Given the description of an element on the screen output the (x, y) to click on. 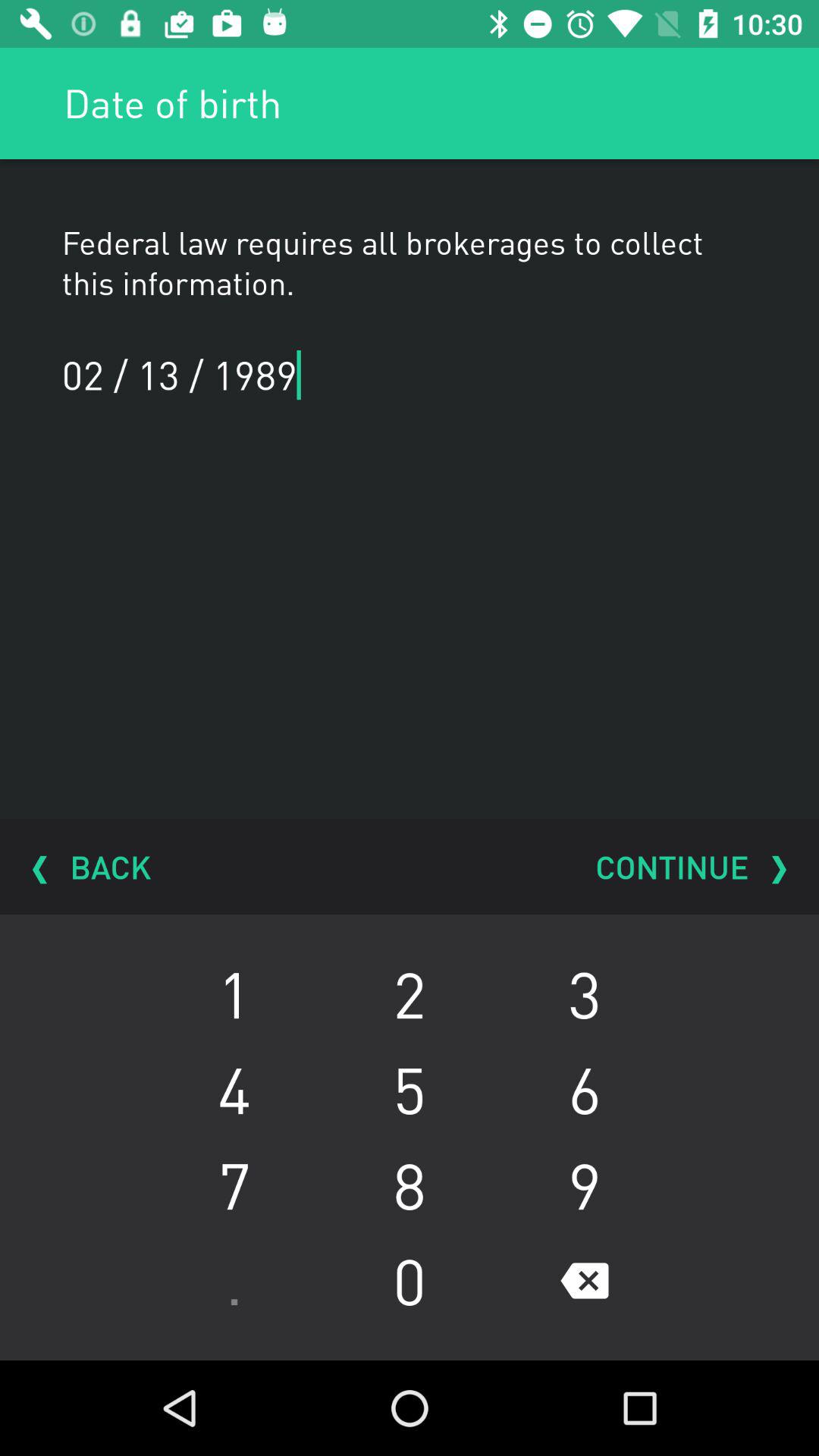
launch icon to the left of 6 icon (409, 1185)
